Given the description of an element on the screen output the (x, y) to click on. 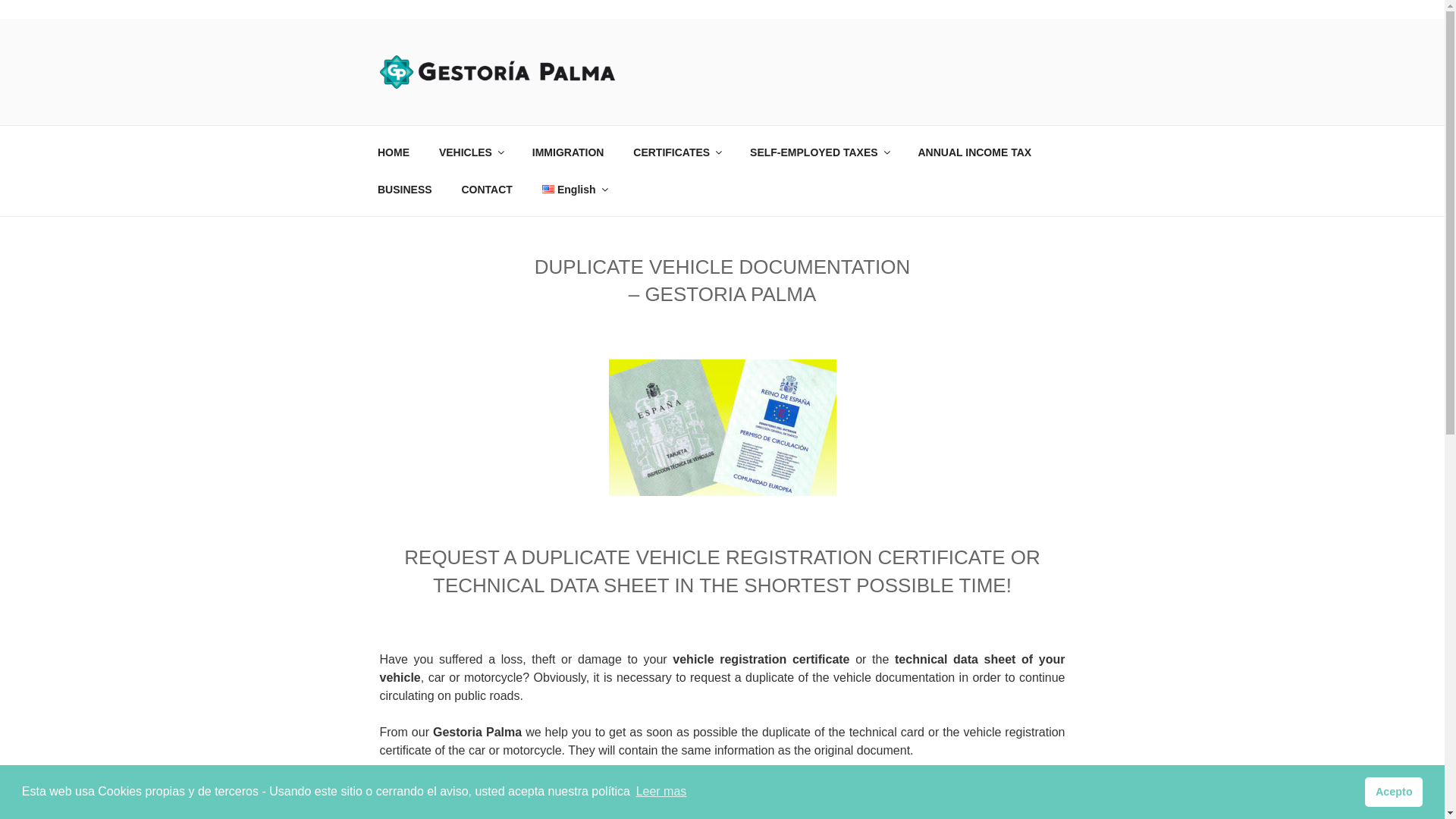
Acepto (1393, 791)
Leer mas (660, 791)
SELF-EMPLOYED TAXES (819, 152)
CERTIFICATES (676, 152)
VEHICLES (470, 152)
HOME (393, 152)
IMMIGRATION (567, 152)
English (574, 189)
CONTACT (486, 189)
BUSINESS (404, 189)
ANNUAL INCOME TAX (974, 152)
